Given the description of an element on the screen output the (x, y) to click on. 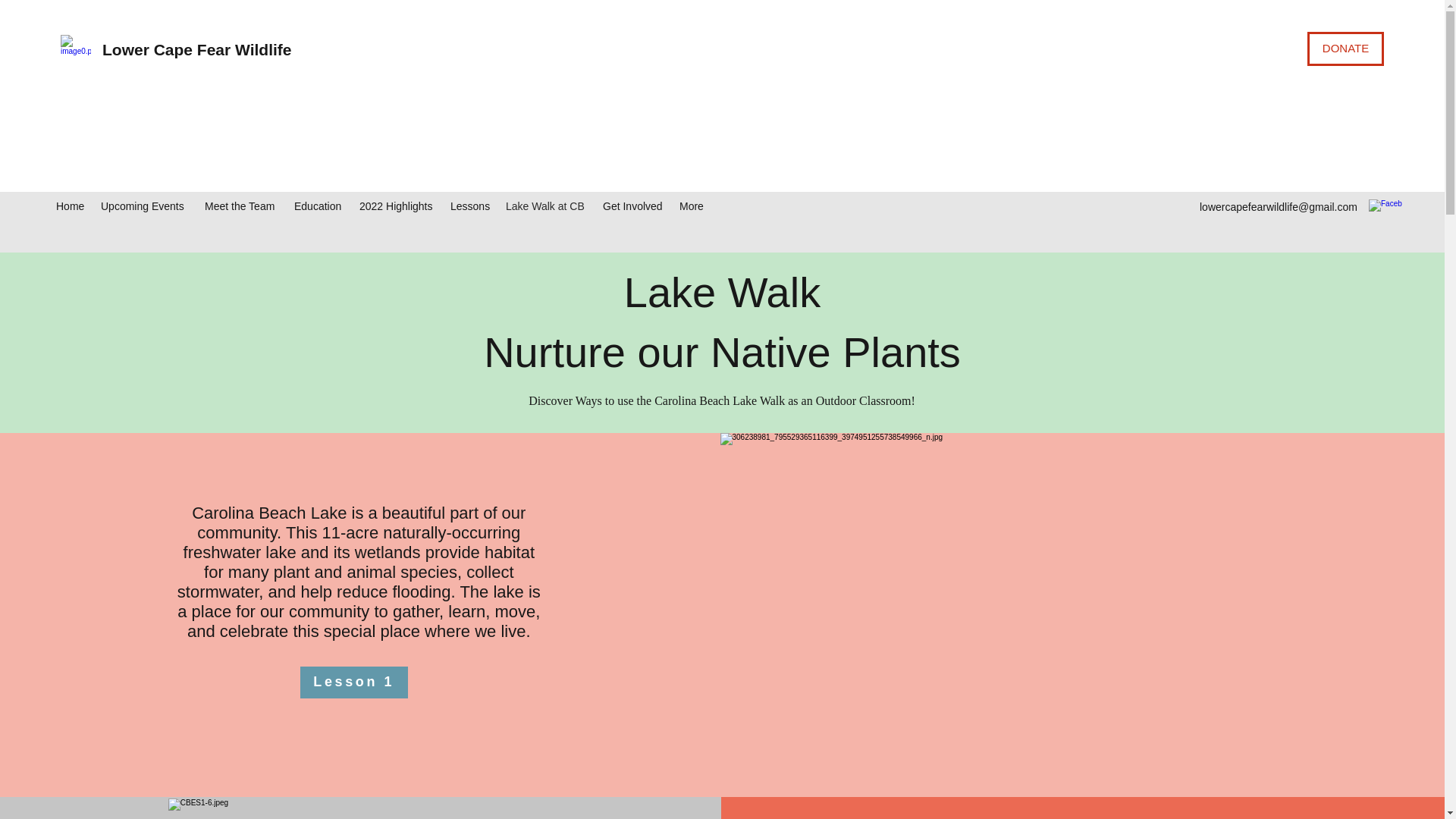
Lower Cape Fear Wildlife (196, 49)
Meet the Team (241, 205)
Lake Walk at CB (546, 205)
Upcoming Events (144, 205)
Education (319, 205)
Home (70, 205)
Get Involved (633, 205)
Lessons (469, 205)
DONATE (1345, 48)
2022 Highlights (397, 205)
